Given the description of an element on the screen output the (x, y) to click on. 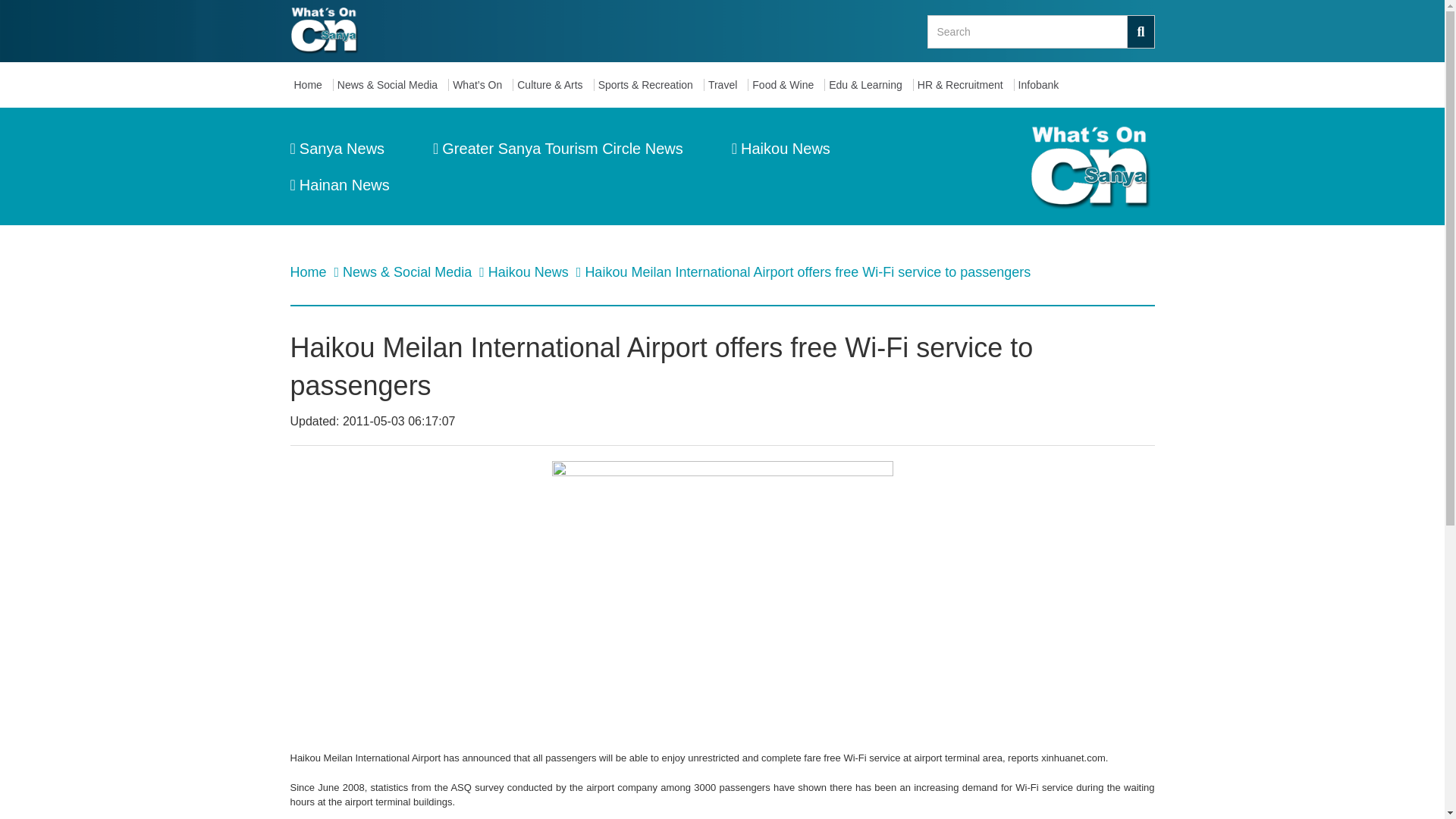
Haikou News (780, 148)
Haikou News (529, 272)
Sanya News (336, 148)
Home (309, 272)
Travel (726, 84)
Infobank (1042, 84)
Home (311, 84)
Greater Sanya Tourism Circle News (557, 148)
Hainan News (338, 184)
